Given the description of an element on the screen output the (x, y) to click on. 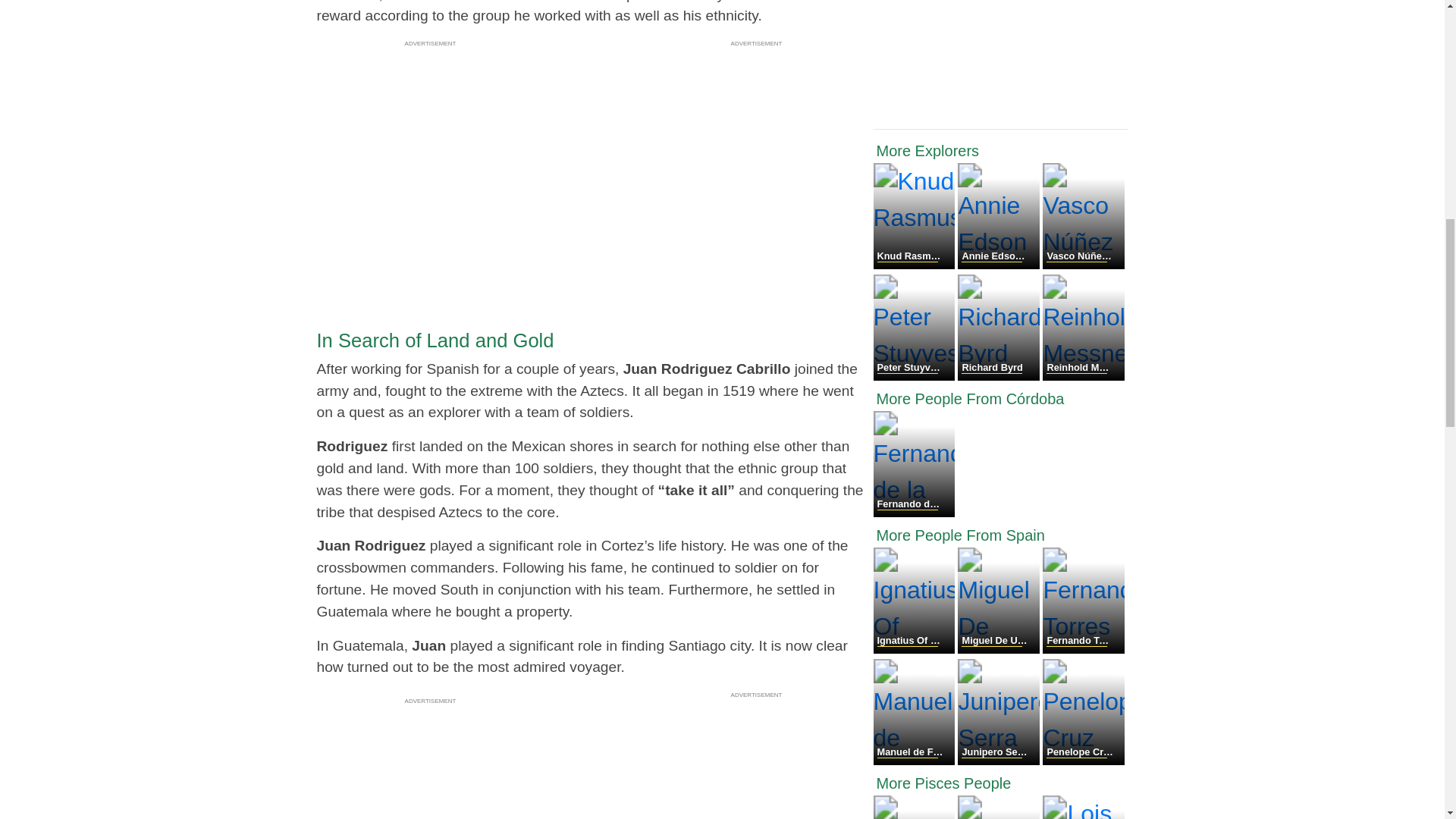
More Explorers (1000, 150)
Peter Stuyvesant (915, 376)
Richard Byrd (1000, 376)
Annie Edson Taylor (1000, 264)
Fernando Torres (1083, 649)
Reinhold Messner (1083, 376)
Ignatius Of Loyola (915, 649)
Manuel de Falla (915, 760)
More People From Spain (1000, 535)
Penelope Cruz (1083, 760)
